Given the description of an element on the screen output the (x, y) to click on. 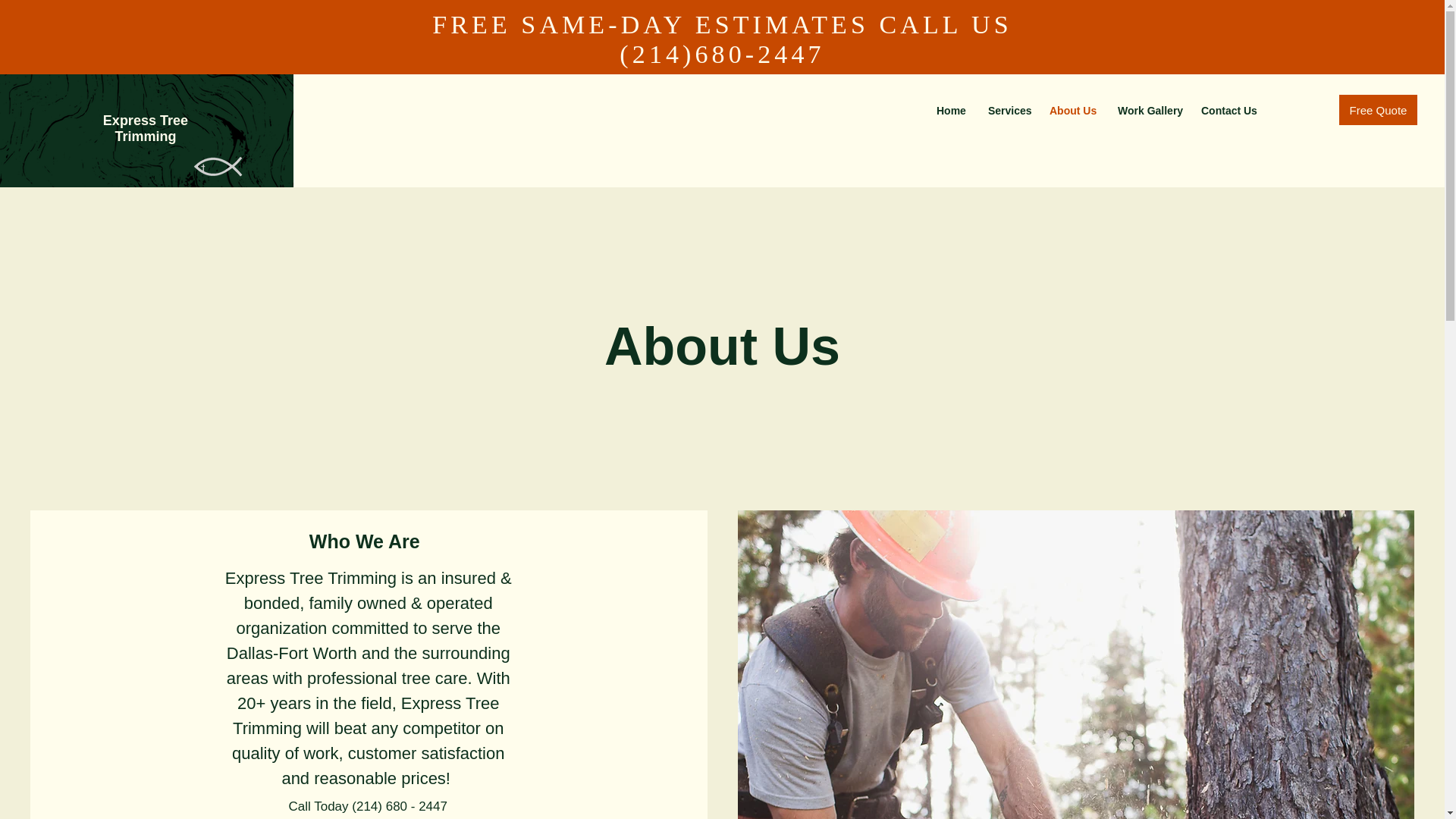
Home (950, 110)
Work Gallery (1147, 110)
Free Quote (1377, 110)
Contact Us (1227, 110)
Services (1007, 110)
About Us (1072, 110)
